Given the description of an element on the screen output the (x, y) to click on. 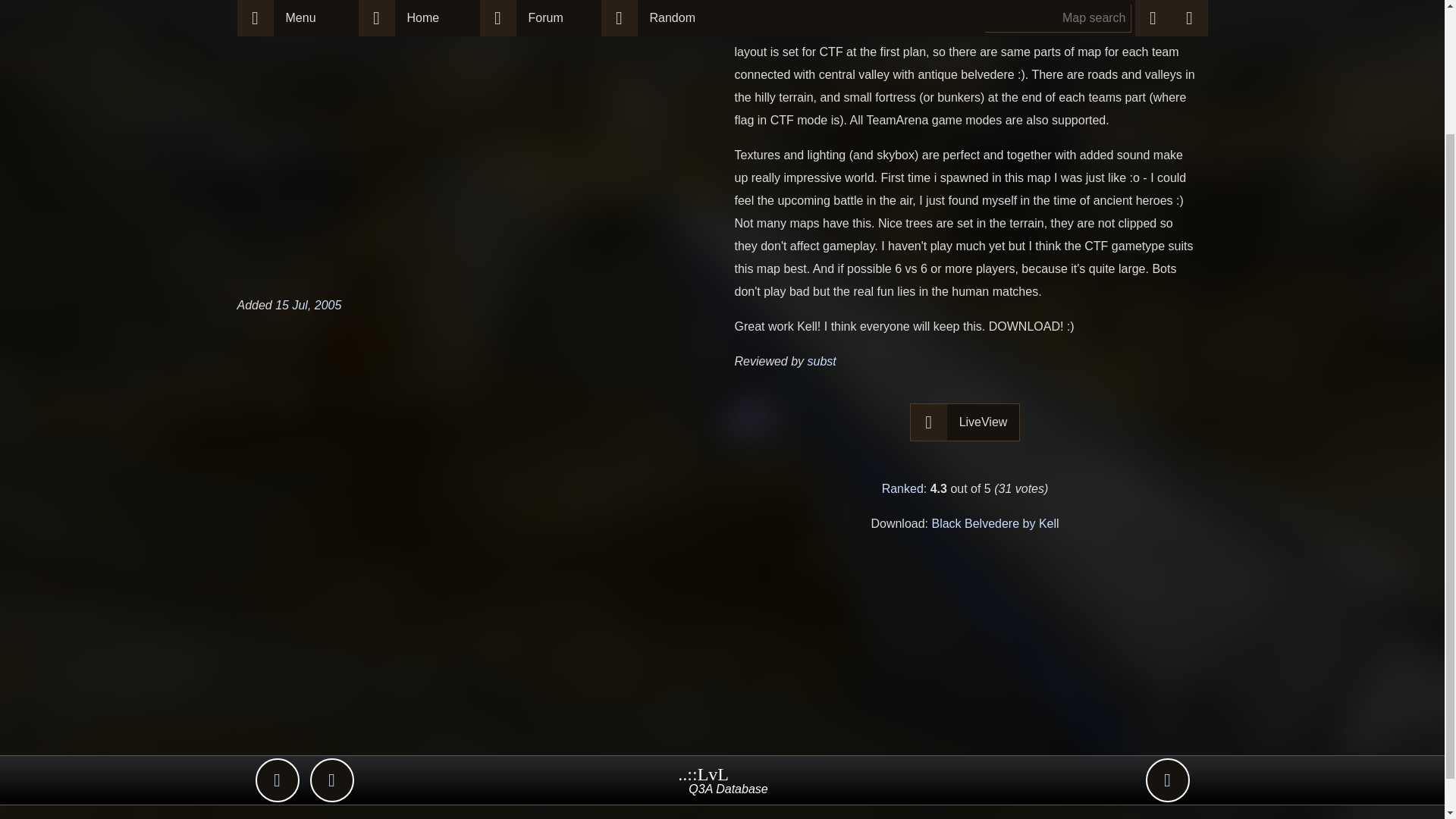
Ranked (902, 488)
15 Jul, 2005 (307, 305)
subst (821, 360)
View this map in your browser (965, 422)
Black Belvedere by Kell (994, 522)
LiveView (983, 422)
